Given the description of an element on the screen output the (x, y) to click on. 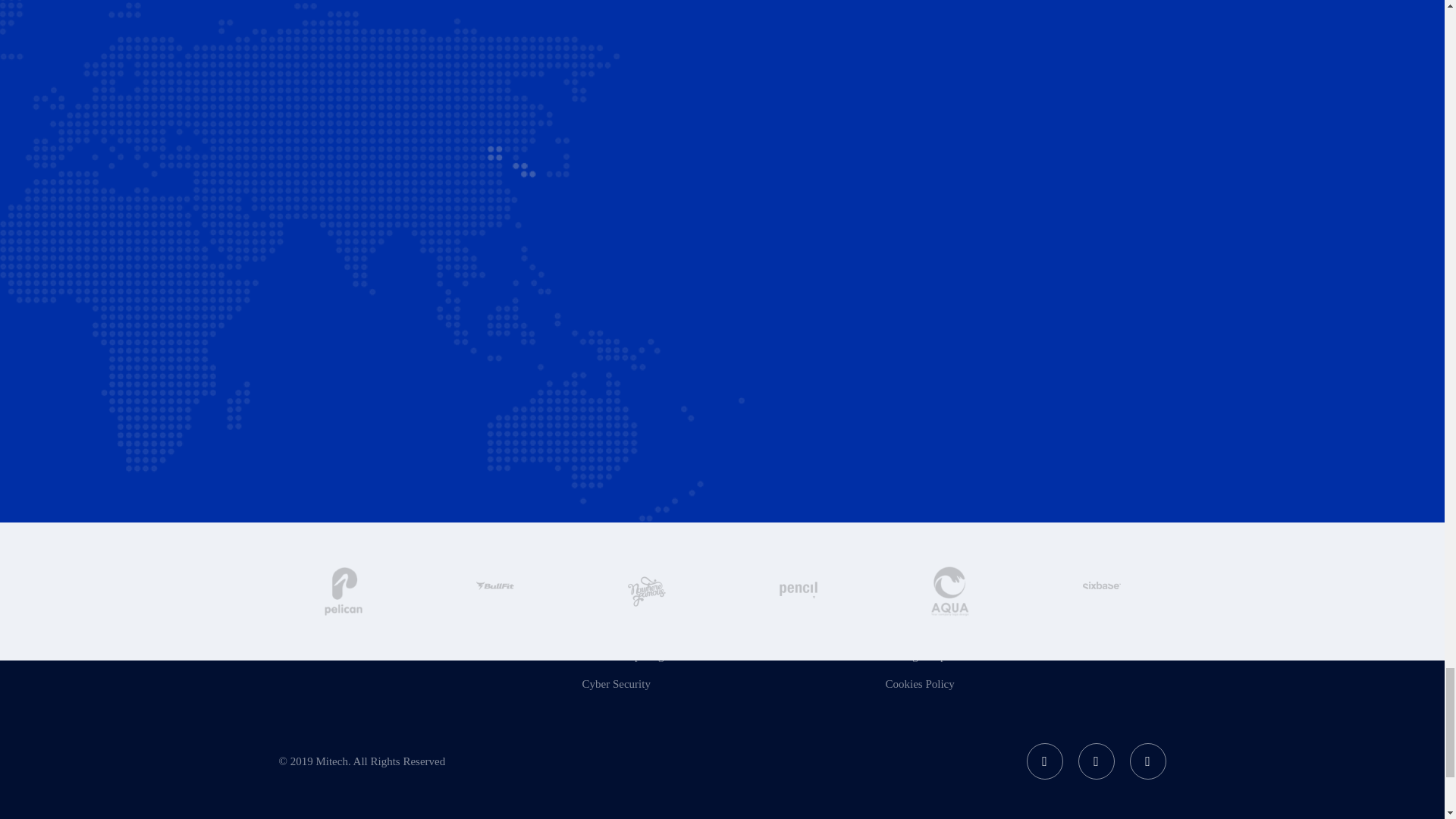
Client Logo 04 (1102, 591)
Client Logo 06 (494, 591)
Client Logo 01 (646, 591)
Client Logo 02 (797, 591)
